Given the description of an element on the screen output the (x, y) to click on. 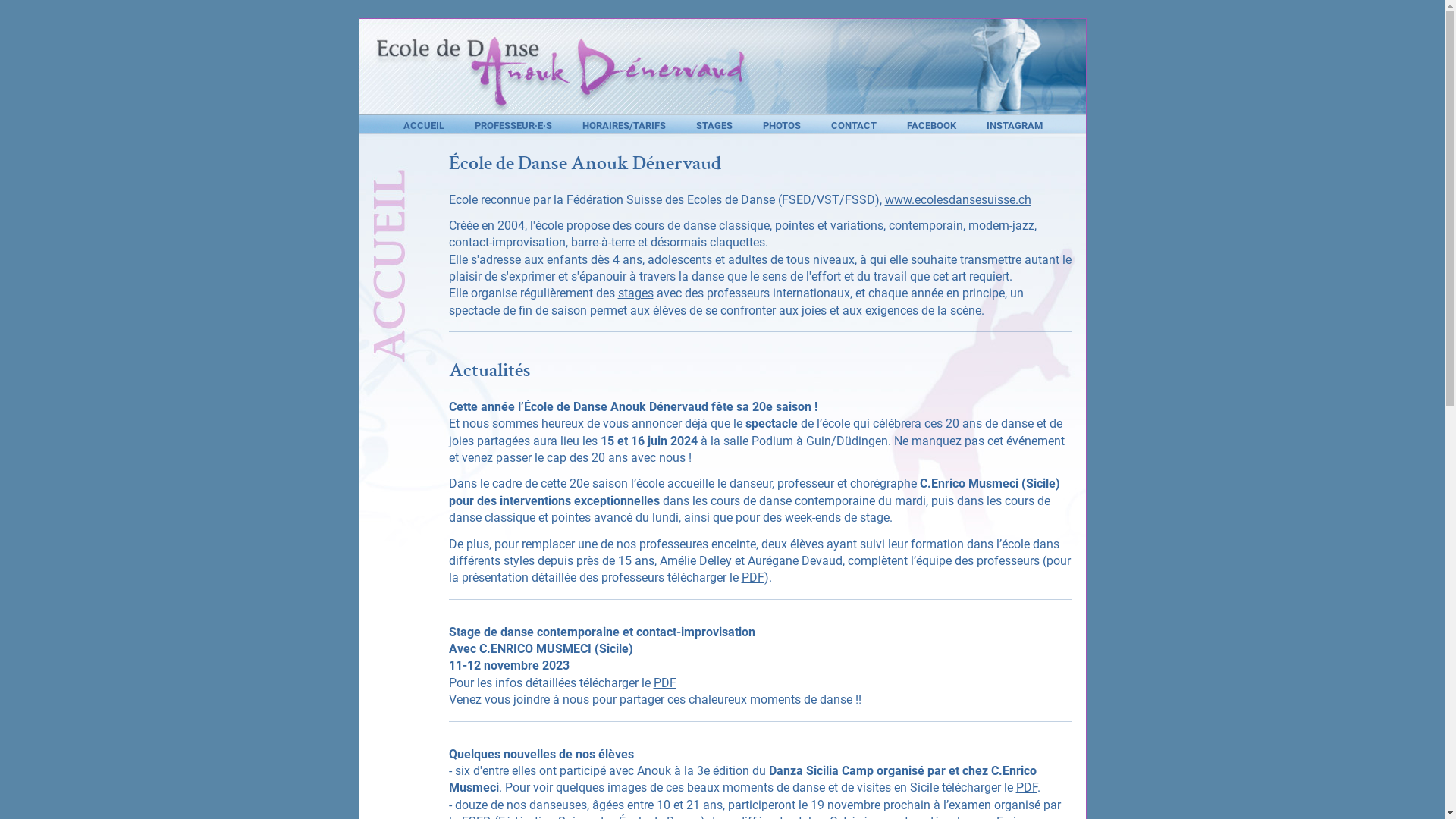
PDF Element type: text (664, 682)
CONTACT Element type: text (853, 125)
stages Element type: text (634, 292)
INSTAGRAM Element type: text (1013, 125)
HORAIRES/TARIFS Element type: text (623, 125)
STAGES Element type: text (714, 125)
ACCUEIL Element type: text (423, 125)
www.ecolesdansesuisse.ch Element type: text (957, 199)
FACEBOOK Element type: text (931, 125)
PDF Element type: text (752, 577)
PHOTOS Element type: text (781, 125)
PDF Element type: text (1026, 787)
